Given the description of an element on the screen output the (x, y) to click on. 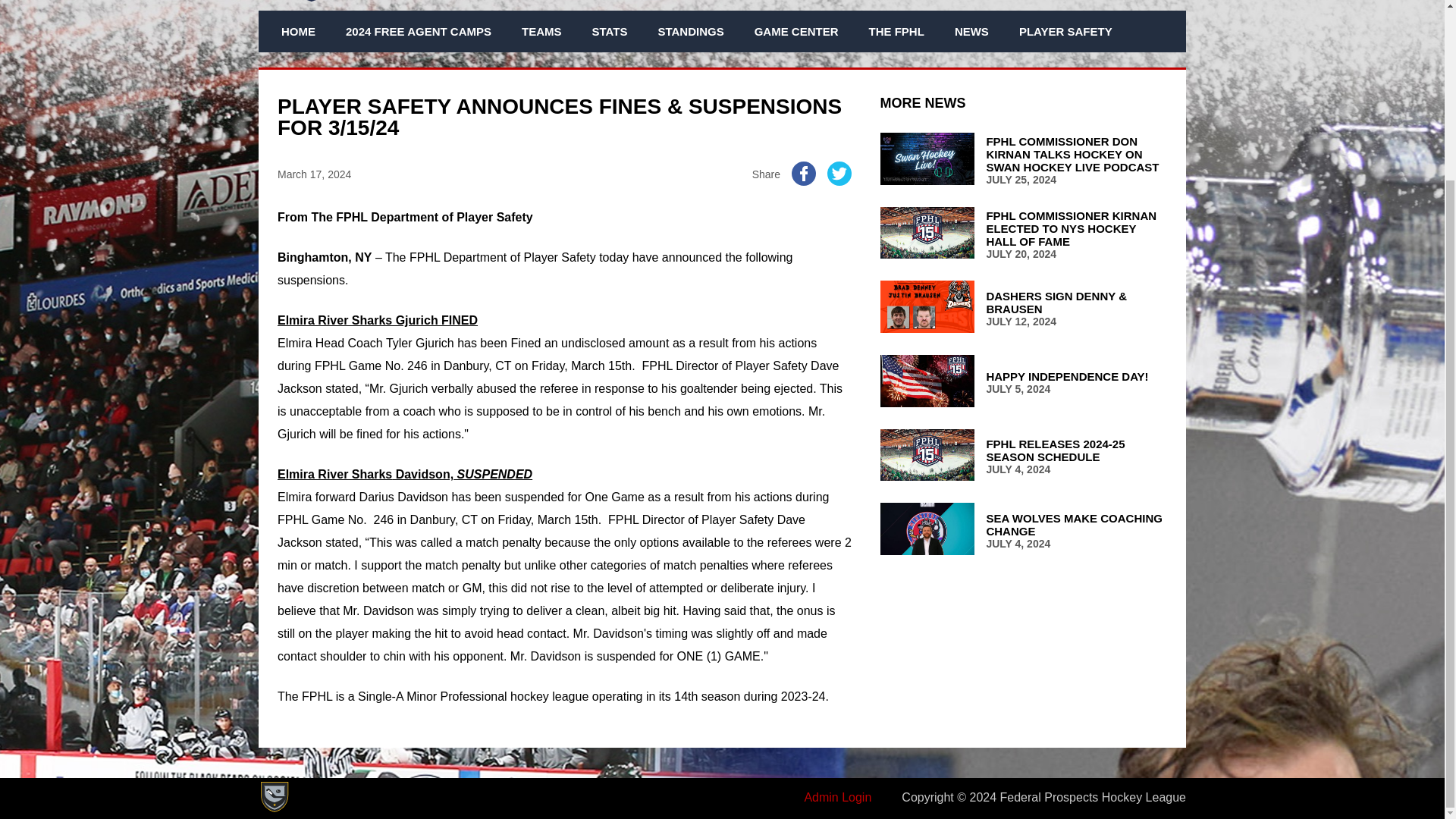
Powered by HockeyShift (273, 797)
